Given the description of an element on the screen output the (x, y) to click on. 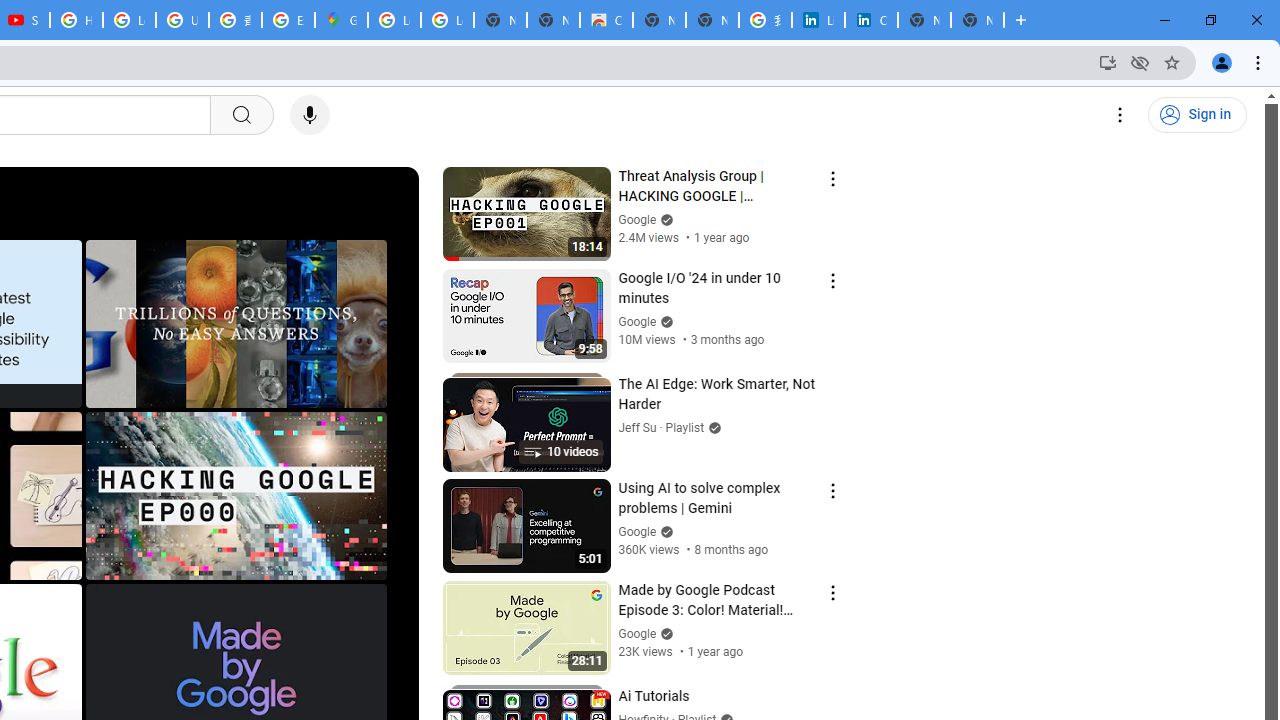
Settings (1119, 115)
Google Maps (341, 20)
Verified (664, 632)
LinkedIn Login, Sign in | LinkedIn (818, 20)
How Chrome protects your passwords - Google Chrome Help (76, 20)
